Given the description of an element on the screen output the (x, y) to click on. 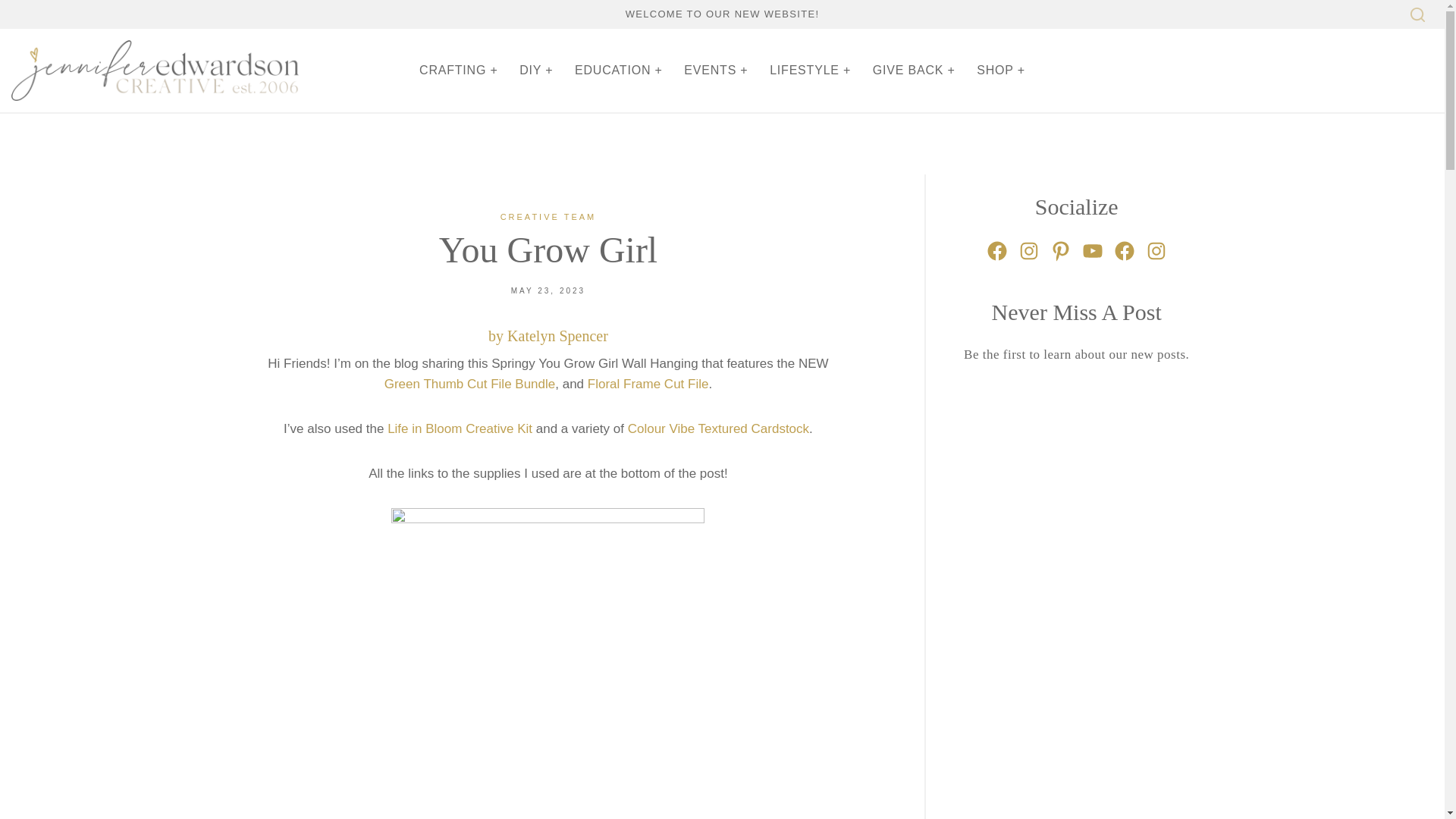
Green Thumb Cut File Bundle (470, 383)
Floral Frame Cut File (648, 383)
Life in Bloom Creative Kit (459, 428)
Colour Vibe Textured Cardstock (718, 428)
CREATIVE TEAM (548, 216)
